Given the description of an element on the screen output the (x, y) to click on. 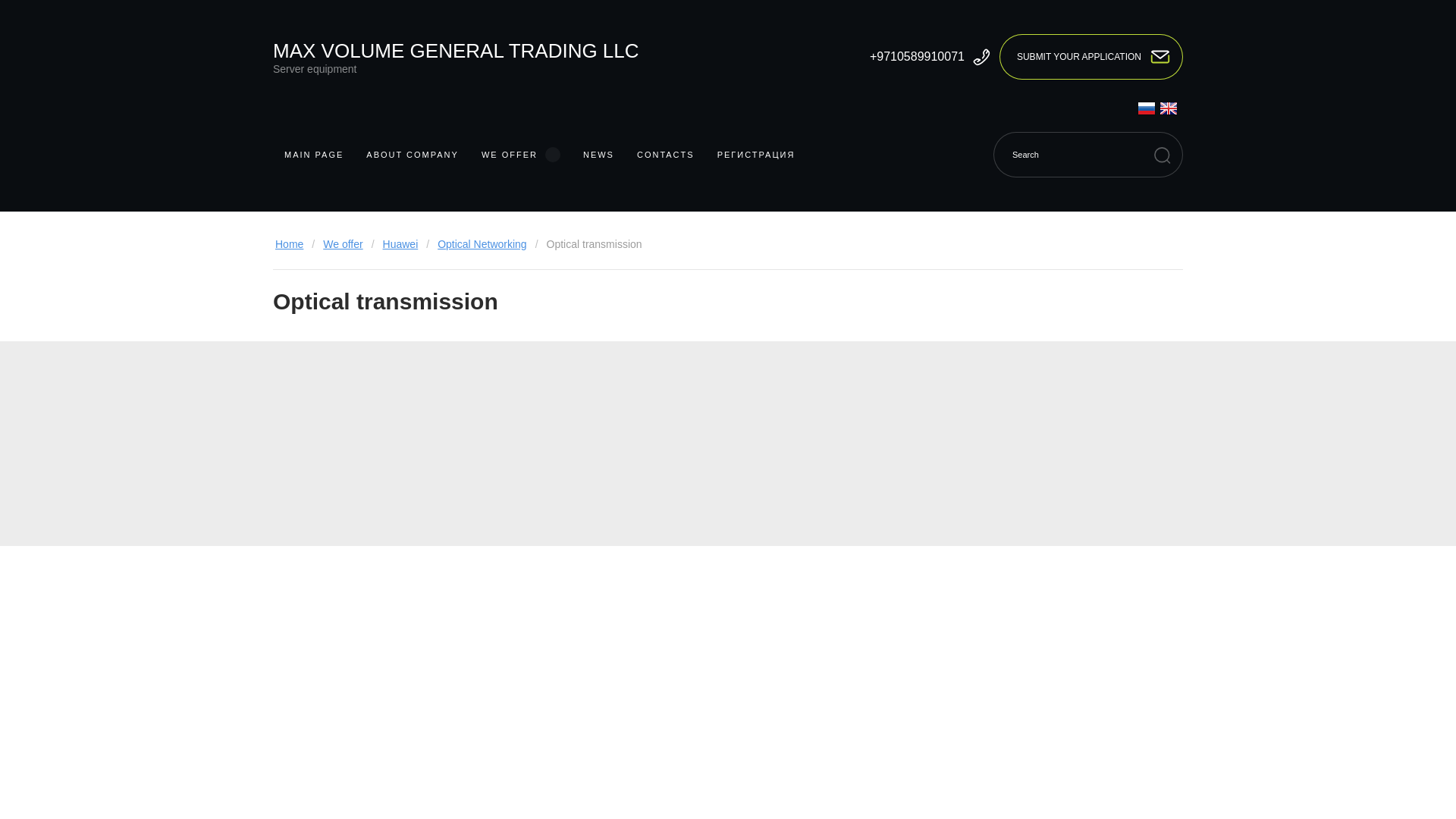
MAIN PAGE (314, 154)
WE OFFER (521, 154)
ABOUT COMPANY (412, 154)
MAX VOLUME GENERAL TRADING LLC (456, 51)
